Given the description of an element on the screen output the (x, y) to click on. 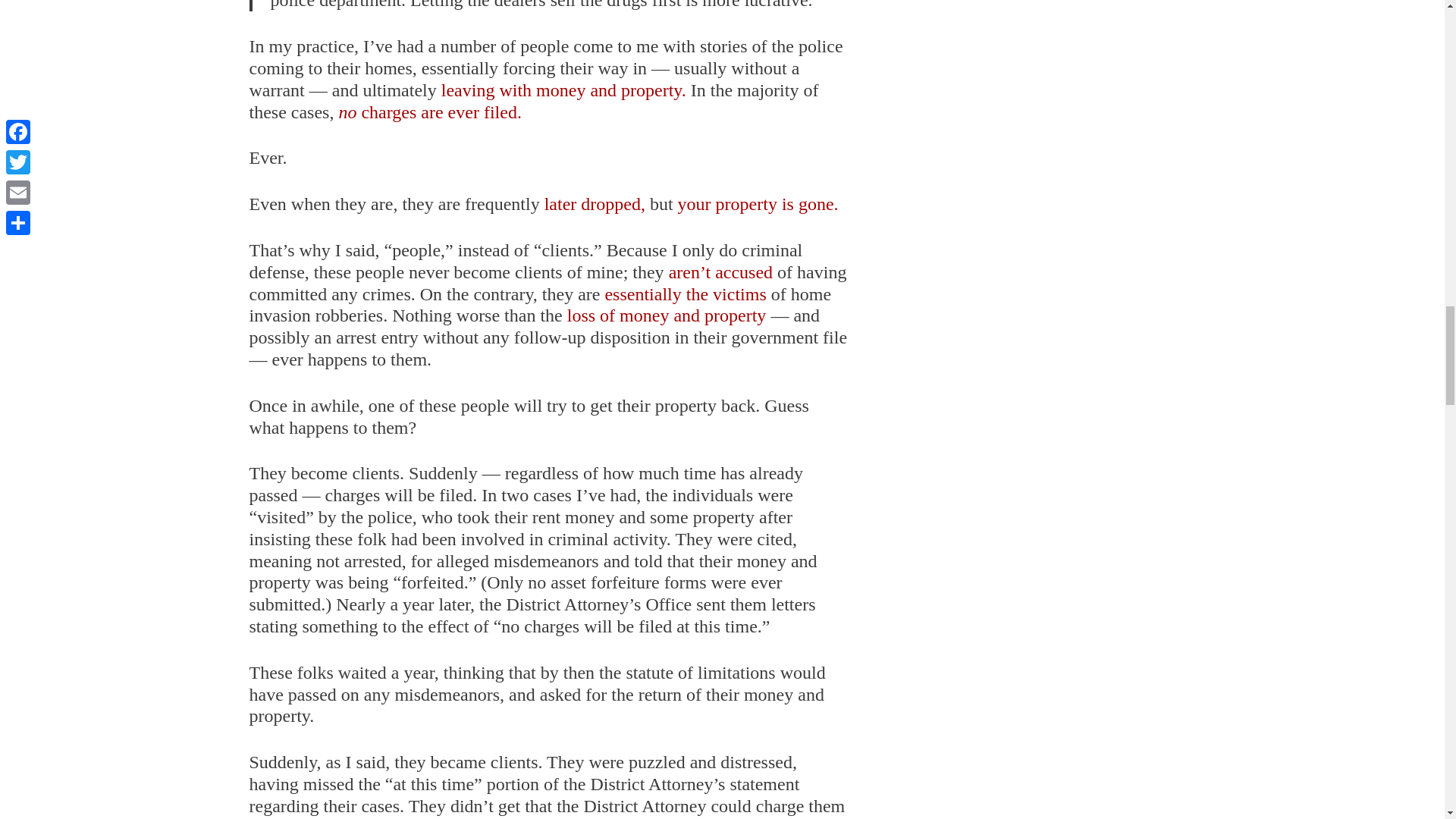
no charges are ever filed. (429, 112)
A License to Steal: The Forfeiture of Property (594, 203)
Toward an American Police State (669, 315)
leaving with money and property. (560, 89)
Policing for Profit: The Abuse of Civil Asset Forfeiture (758, 203)
Fear Endangers American Rights (720, 271)
The American Nightmare That Is Civil Asset Forfeiture (560, 89)
Police property seizures ensnare even the innocent (429, 112)
